Given the description of an element on the screen output the (x, y) to click on. 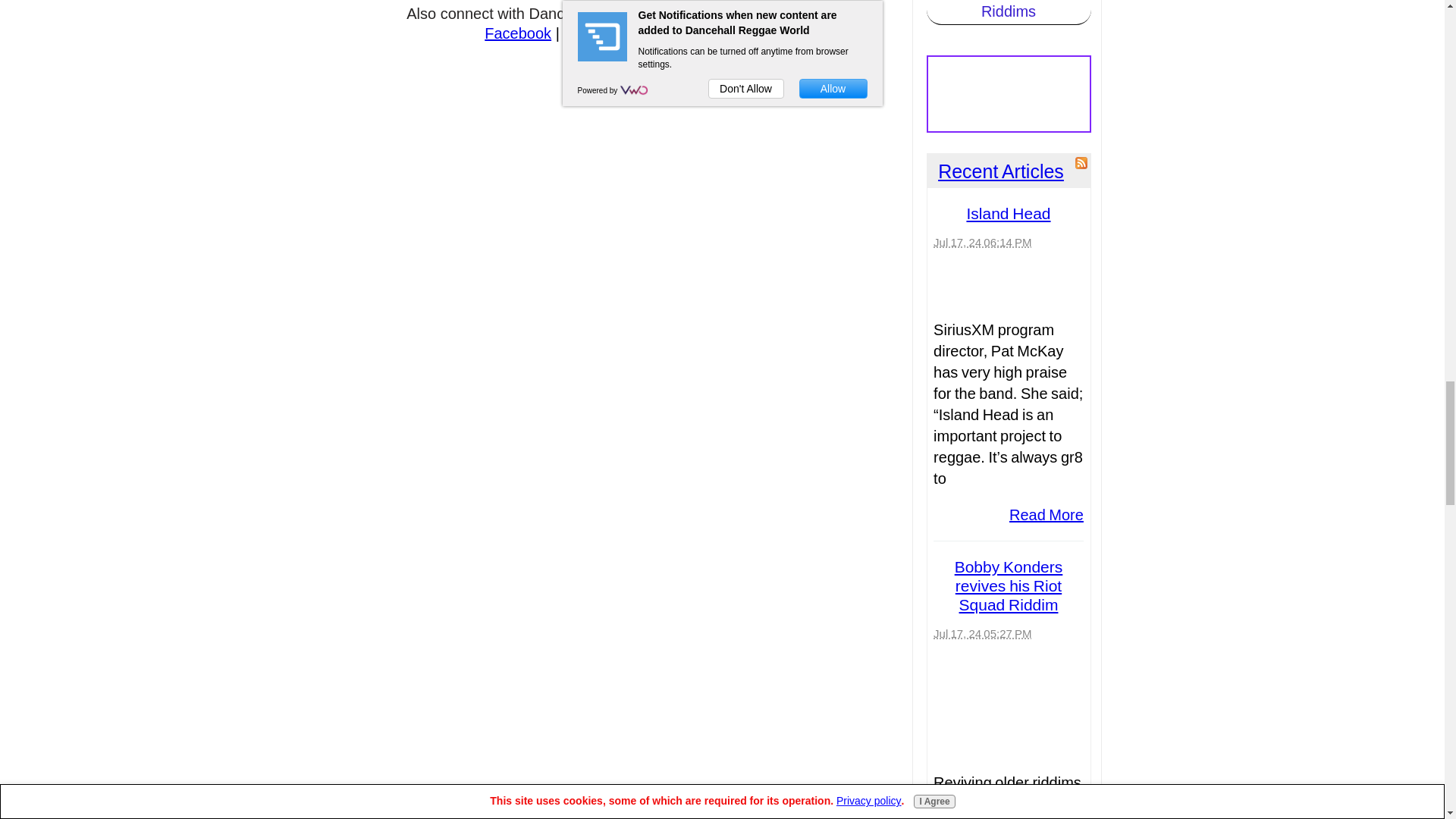
Twitter (585, 33)
2024-07-17T17:27:33-0400 (981, 633)
Instagram (653, 33)
Facebook (517, 33)
Youtube (727, 33)
2024-07-17T18:14:25-0400 (981, 241)
